Given the description of an element on the screen output the (x, y) to click on. 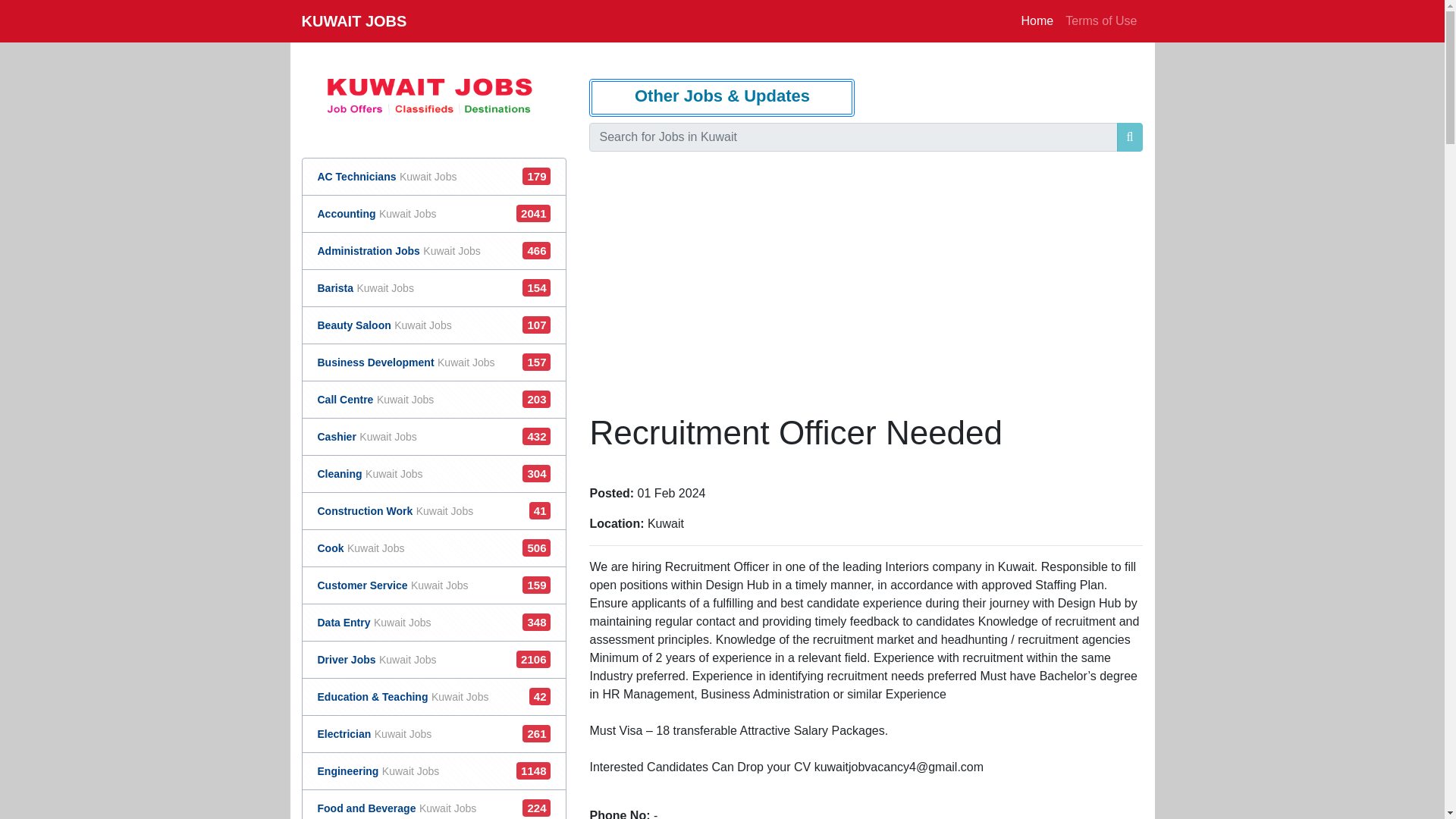
Terms of Use (1100, 20)
Home (395, 510)
